Given the description of an element on the screen output the (x, y) to click on. 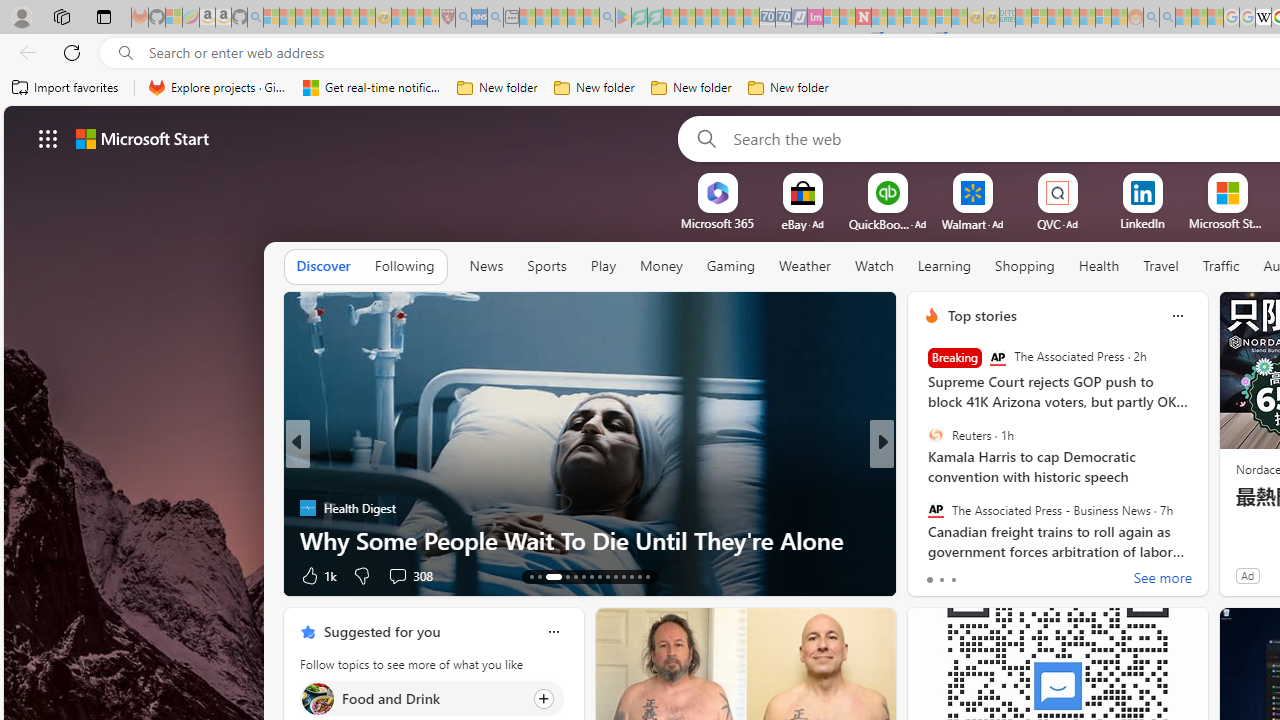
Health Digest (307, 507)
AutomationID: tab-23 (623, 576)
View comments 67 Comment (1013, 575)
View comments 81 Comment (1019, 575)
